Given the description of an element on the screen output the (x, y) to click on. 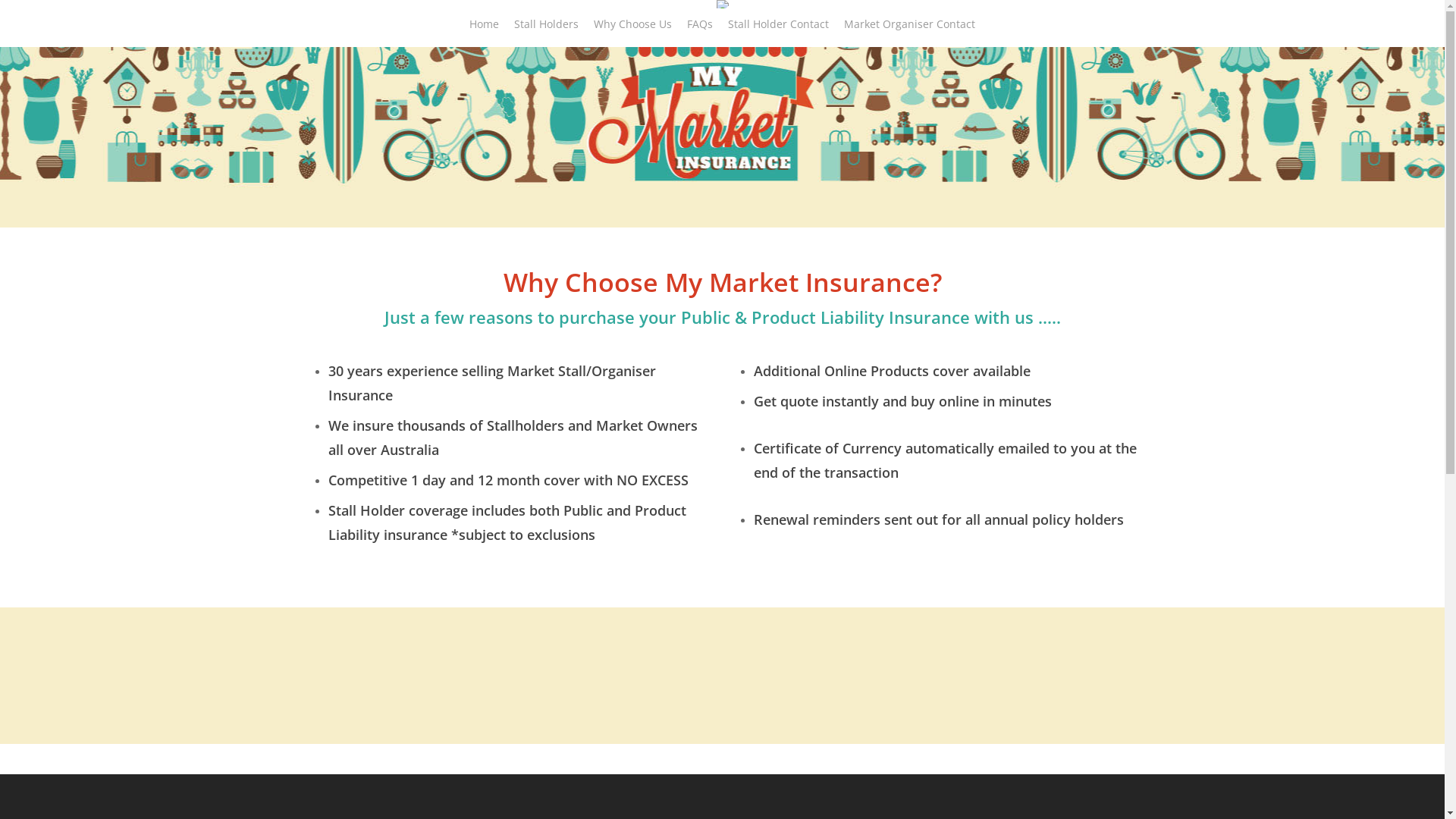
Market Organiser Contact Element type: text (909, 31)
Stall Holder Contact Element type: text (778, 31)
Stall Holders Element type: text (546, 31)
Home Element type: text (483, 31)
FAQs Element type: text (699, 31)
Why Choose Us Element type: text (632, 31)
